Given the description of an element on the screen output the (x, y) to click on. 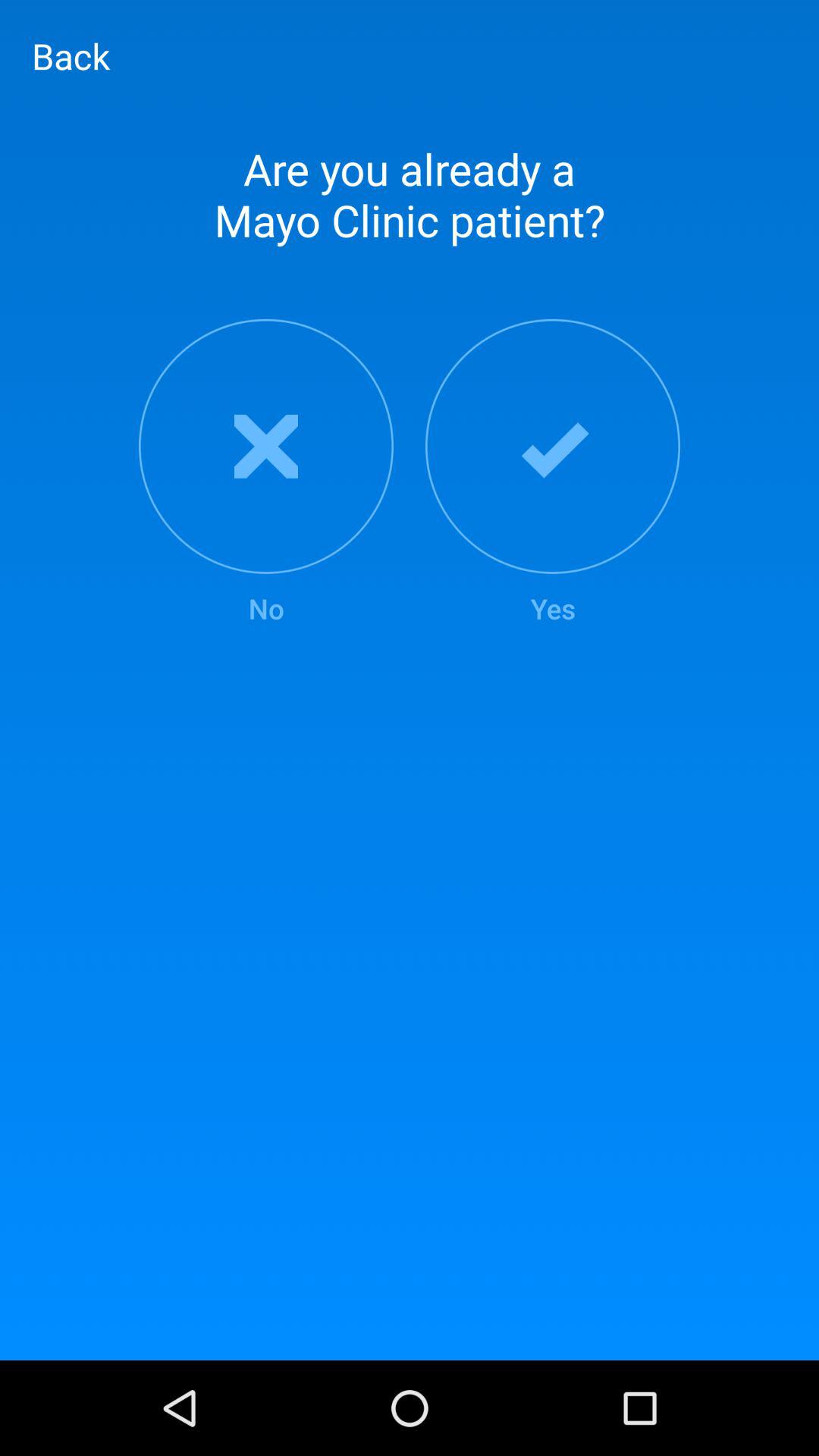
turn off the item next to the no icon (552, 473)
